Given the description of an element on the screen output the (x, y) to click on. 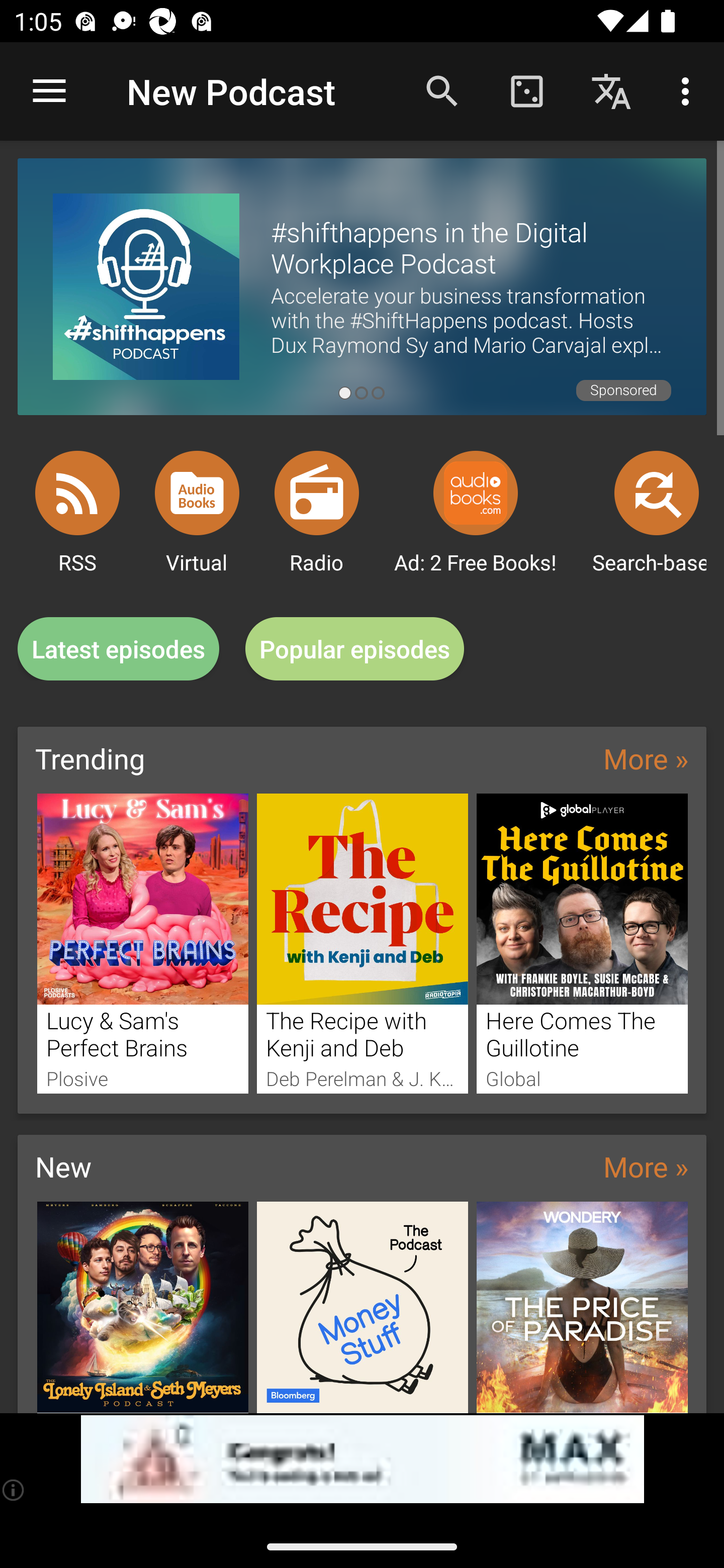
Open navigation sidebar (49, 91)
Search (442, 90)
Random pick (526, 90)
Podcast languages (611, 90)
More options (688, 90)
RSS (77, 492)
Virtual (196, 492)
Radio (316, 492)
Search-based (656, 492)
Latest episodes (118, 648)
Popular episodes (354, 648)
More » (645, 757)
Lucy & Sam's Perfect Brains Plosive (142, 942)
Here Comes The Guillotine Global (581, 942)
More » (645, 1166)
The Lonely Island and Seth Meyers Podcast (142, 1306)
Money Stuff: The Podcast (362, 1306)
The Price of Paradise (581, 1306)
app-monetization (362, 1459)
(i) (14, 1489)
